Given the description of an element on the screen output the (x, y) to click on. 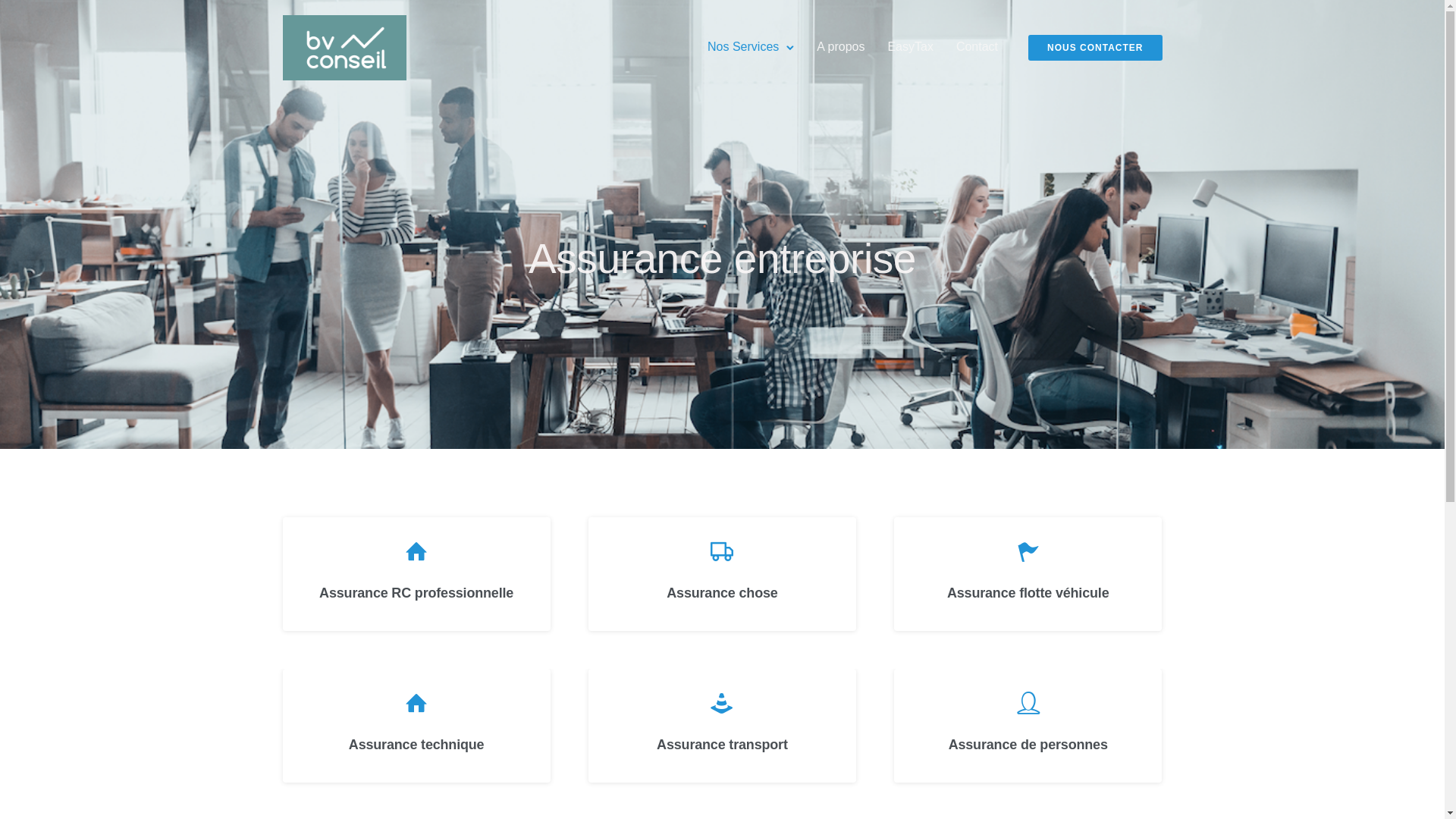
Nos Services Element type: text (742, 46)
NOUS CONTACTER Element type: text (1094, 47)
Contact Element type: text (976, 46)
EasyTax Element type: text (909, 46)
A propos Element type: text (840, 46)
